Given the description of an element on the screen output the (x, y) to click on. 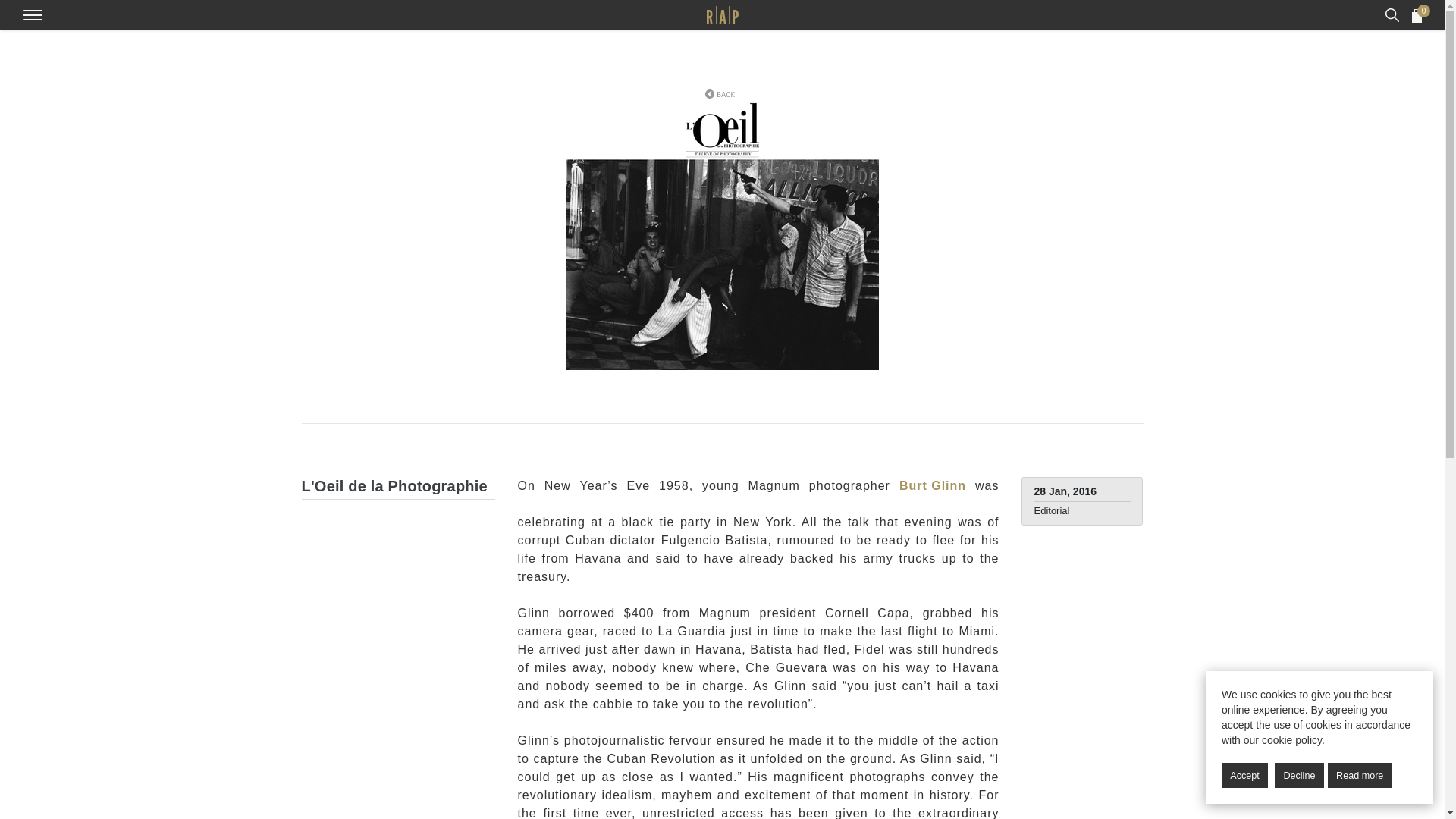
back to press page (1359, 775)
BOOKS (722, 91)
Accept (1359, 774)
PRINTS (1244, 774)
Burt Glinn (1299, 774)
